Given the description of an element on the screen output the (x, y) to click on. 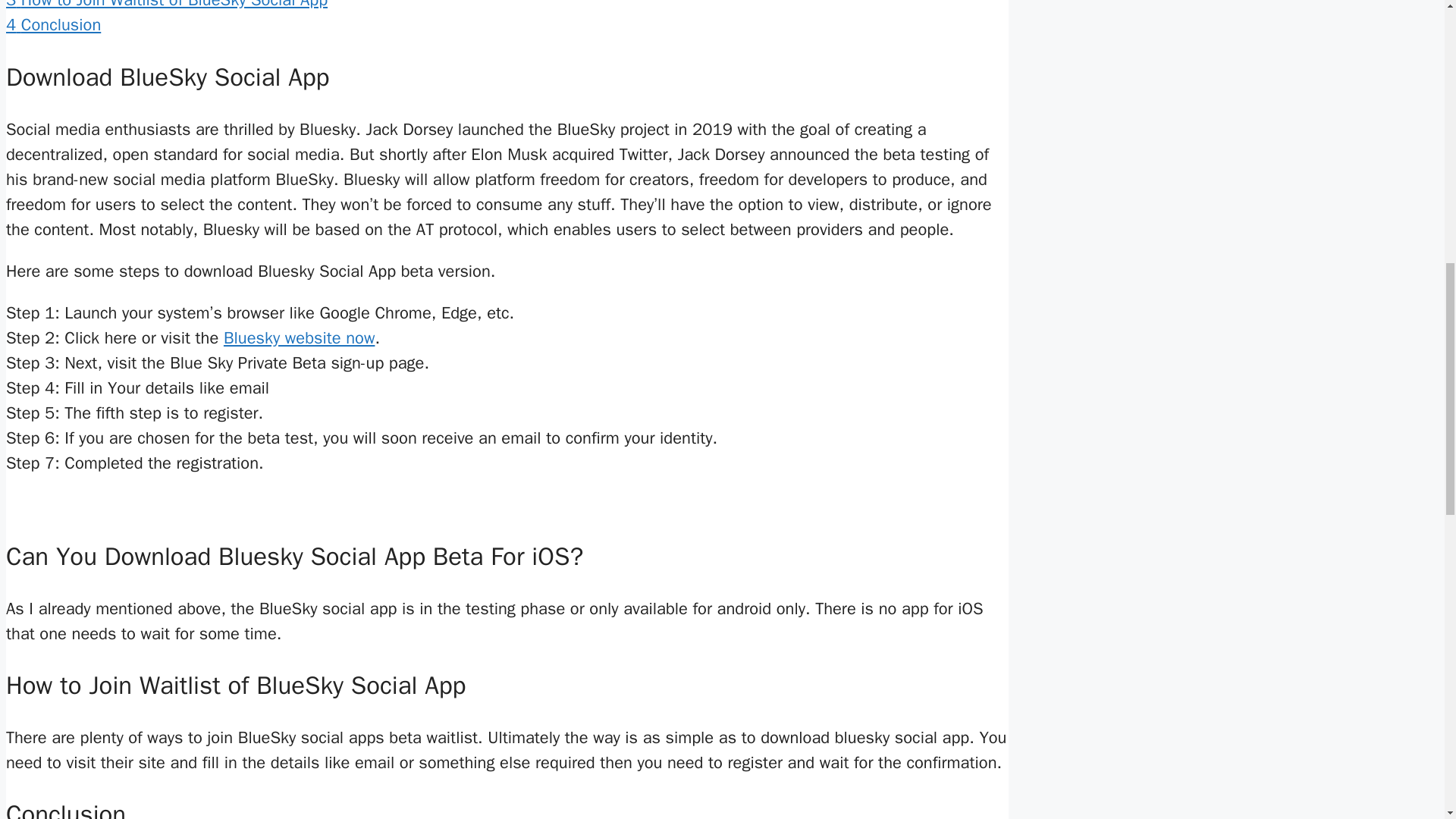
4 Conclusion (52, 25)
Bluesky website now (299, 337)
3 How to Join Waitlist of BlueSky Social App (166, 5)
